Given the description of an element on the screen output the (x, y) to click on. 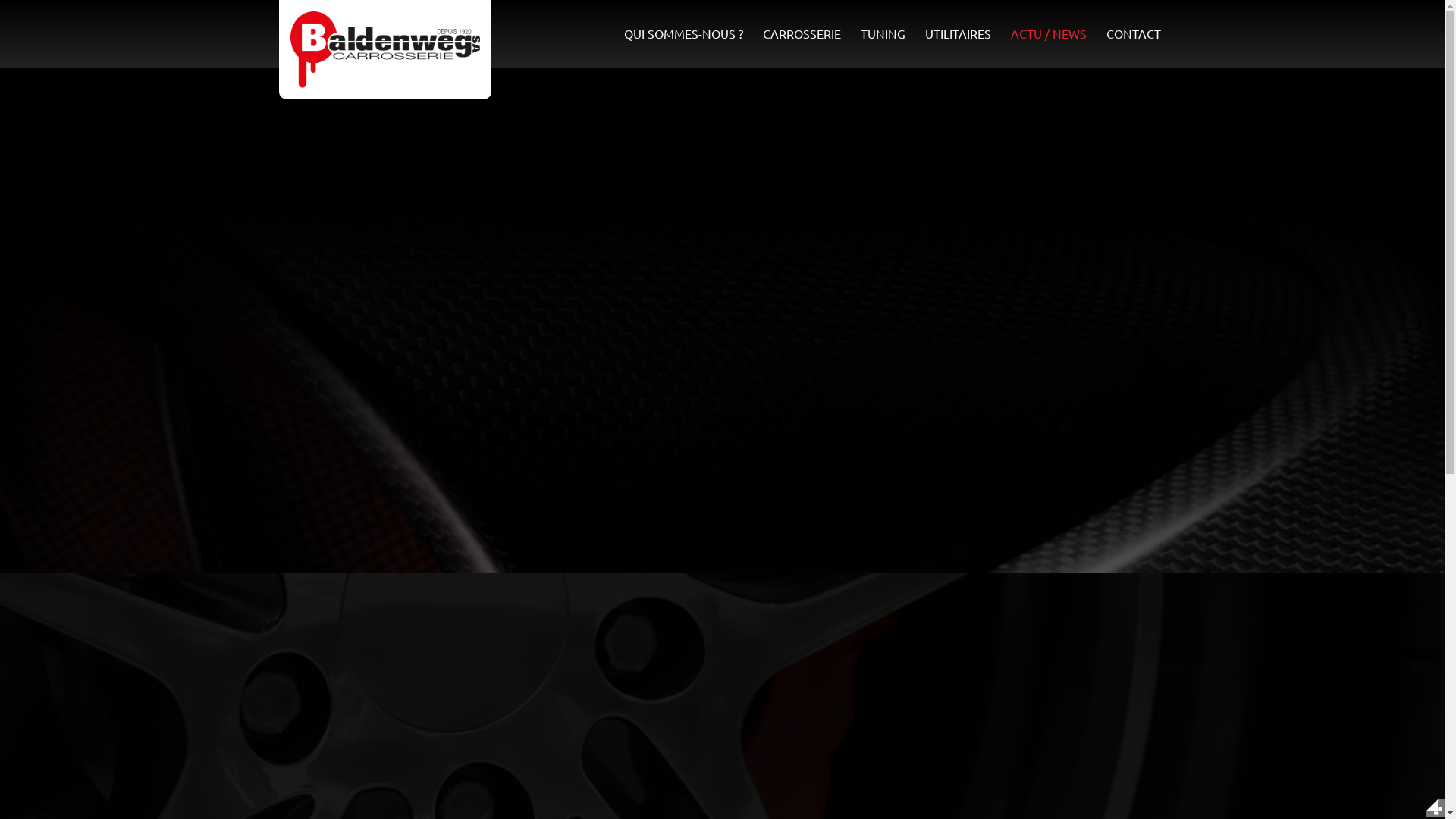
Actu / News - mai 2016 Element type: hover (384, 49)
CONTACT Element type: text (1133, 33)
QUI SOMMES-NOUS ? Element type: text (683, 33)
TUNING Element type: text (883, 33)
CARROSSERIE Element type: text (801, 33)
UTILITAIRES Element type: text (957, 33)
ACTU / NEWS Element type: text (1048, 33)
